Given the description of an element on the screen output the (x, y) to click on. 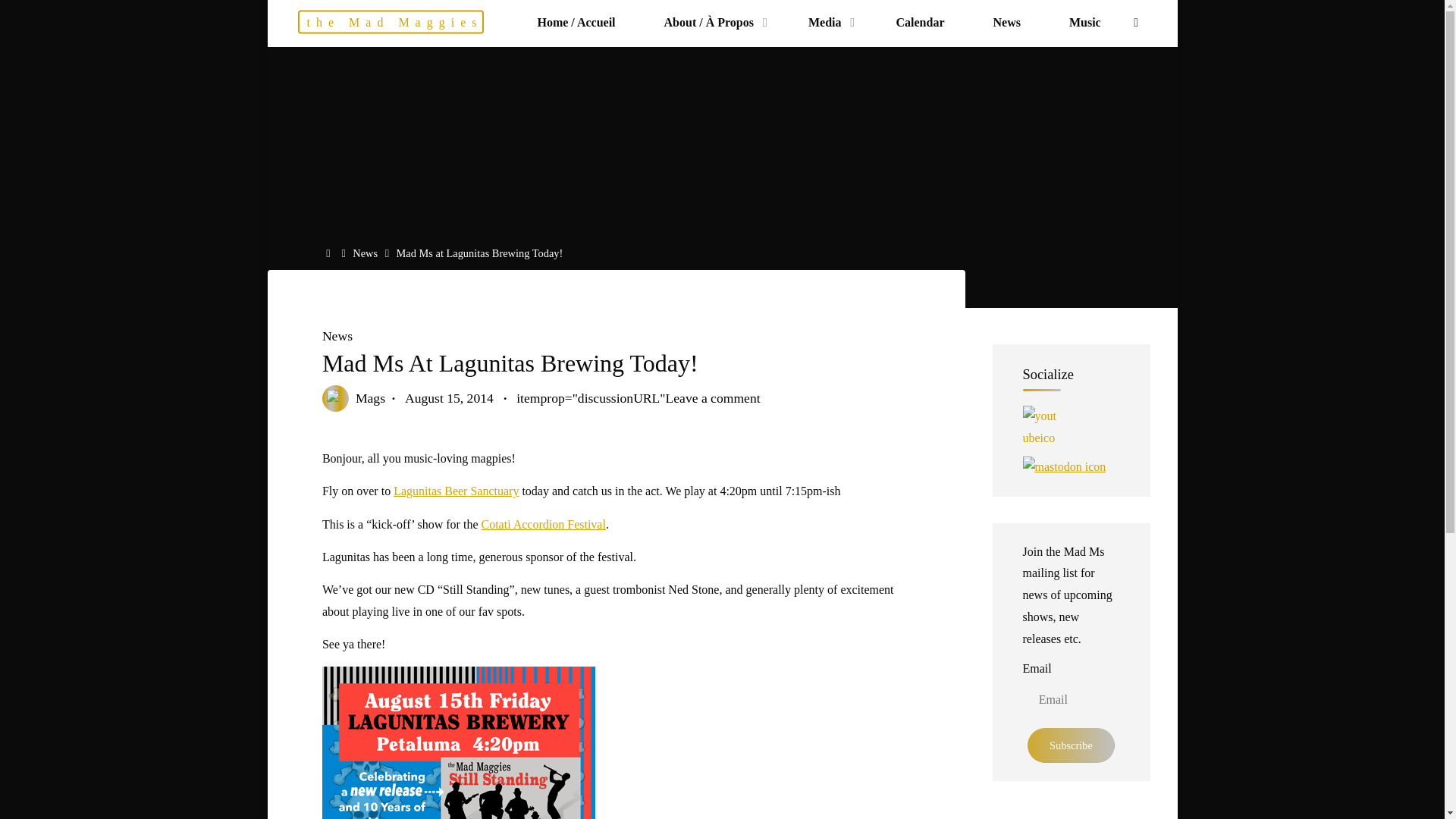
View all posts by Mags (369, 396)
Jump to comments (638, 397)
the Mad Maggies (390, 22)
Home (330, 253)
  --- hard to describe, easy to love --- (390, 22)
